Given the description of an element on the screen output the (x, y) to click on. 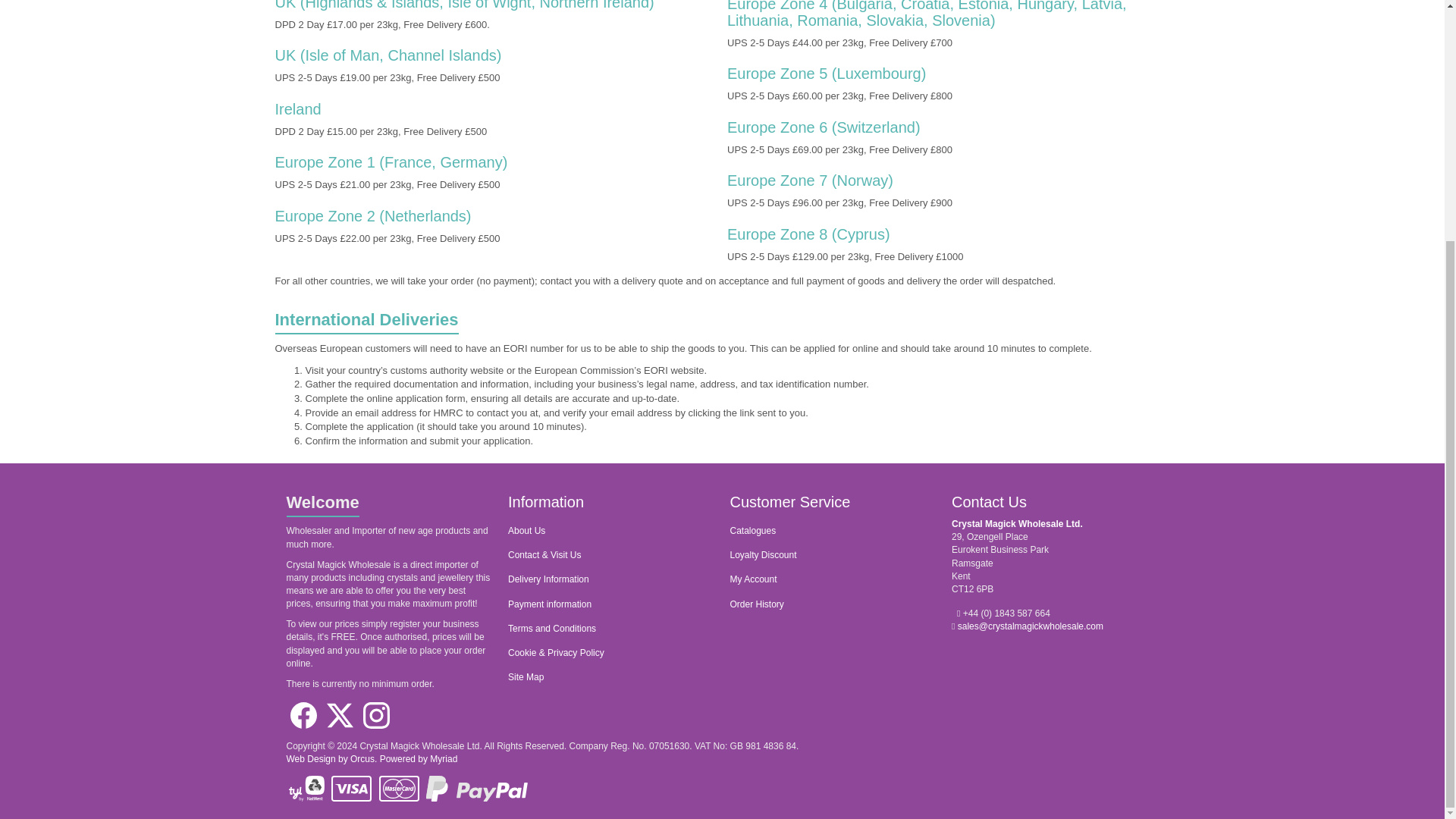
facebook (302, 714)
twitter (339, 714)
Visa (351, 788)
instagram (376, 714)
Paypal (476, 788)
tyl (306, 788)
Mastercard (399, 788)
